Given the description of an element on the screen output the (x, y) to click on. 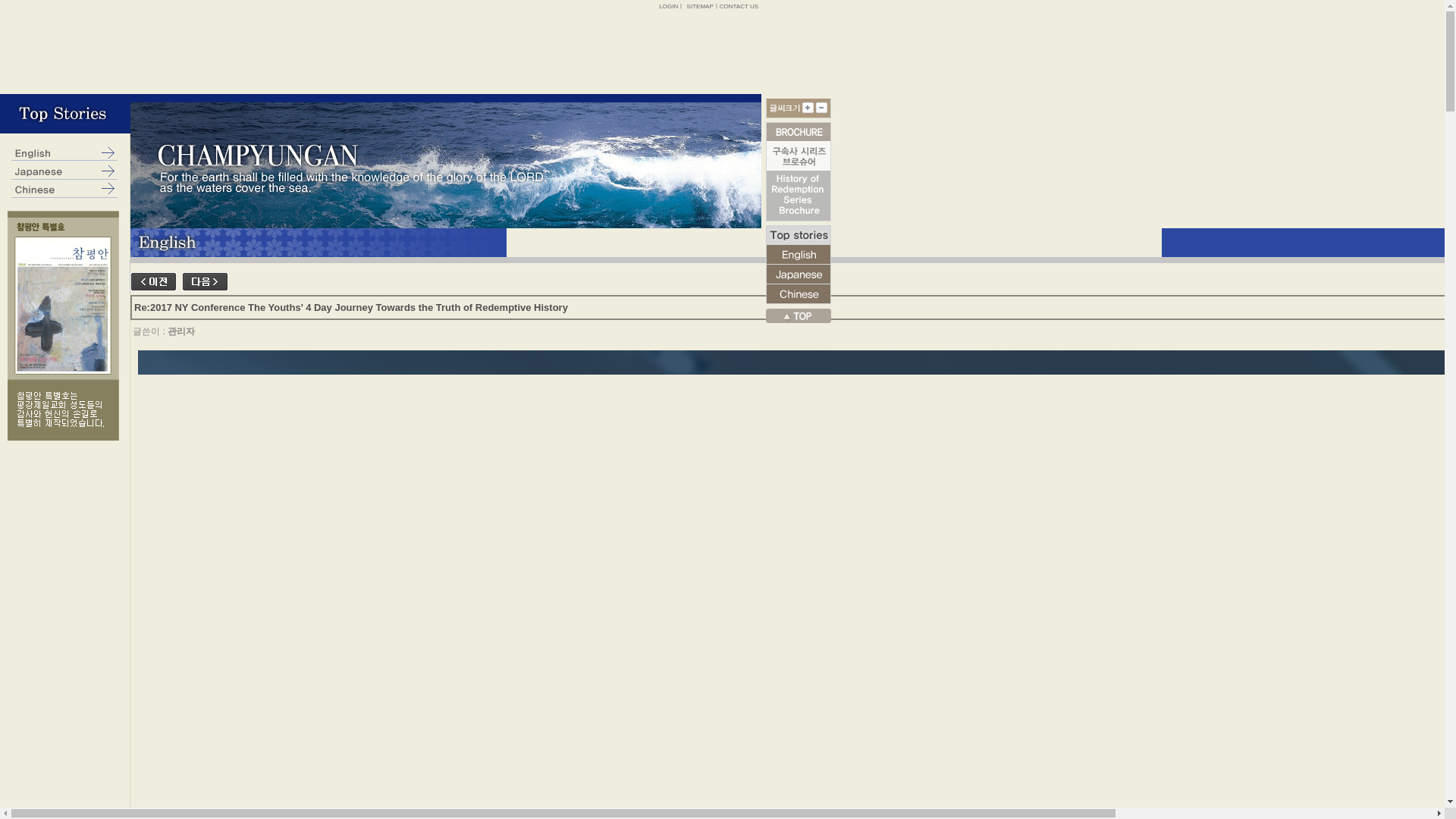
Beware and Be on Your Guard Against Every Form of Greed (205, 281)
CONTACT US (738, 6)
